Given the description of an element on the screen output the (x, y) to click on. 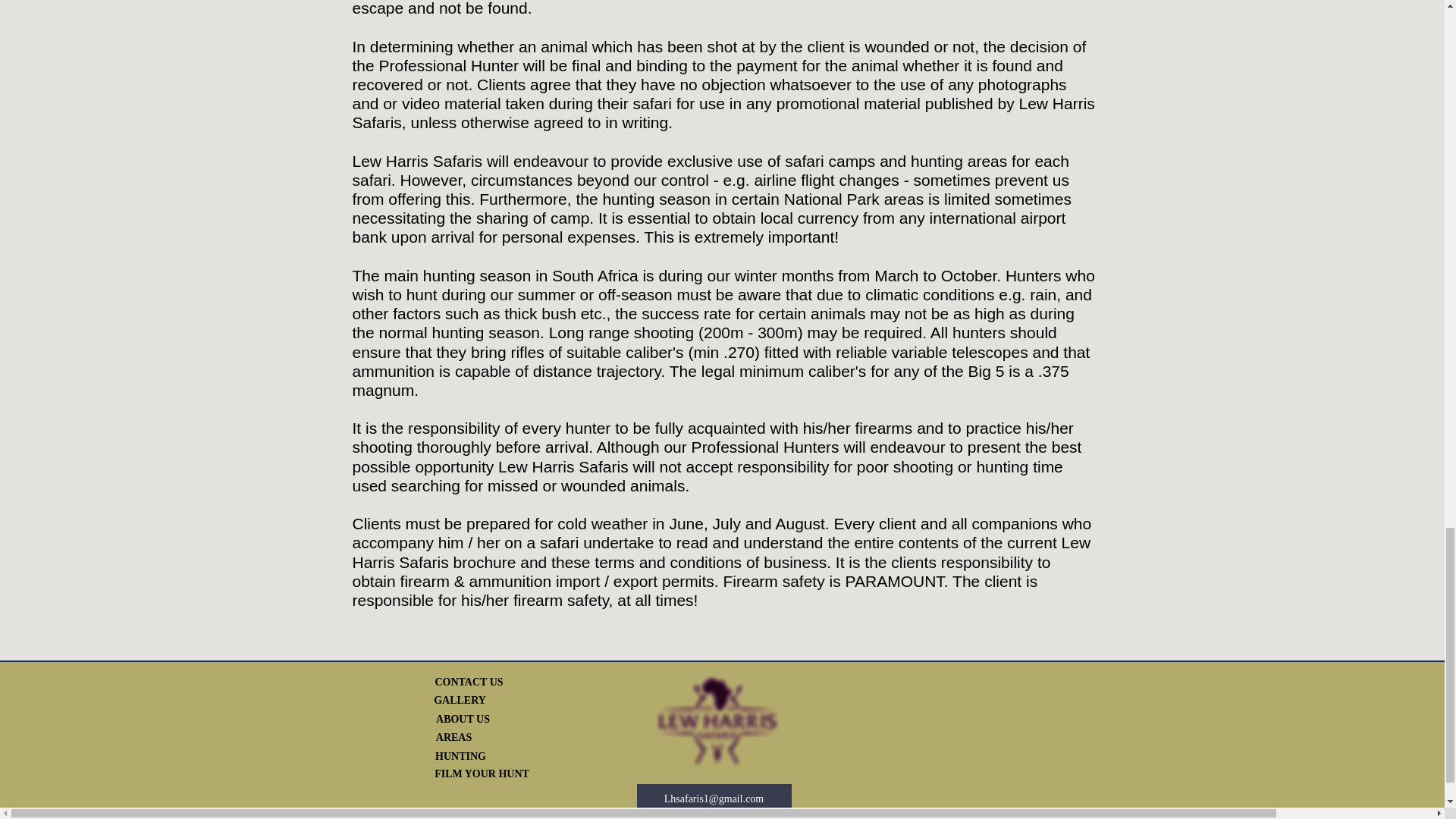
CONTACT US (468, 682)
AREAS (454, 737)
ABOUT US (462, 719)
HUNTING (459, 756)
FILM YOUR HUNT (481, 774)
GALLERY (459, 700)
